Given the description of an element on the screen output the (x, y) to click on. 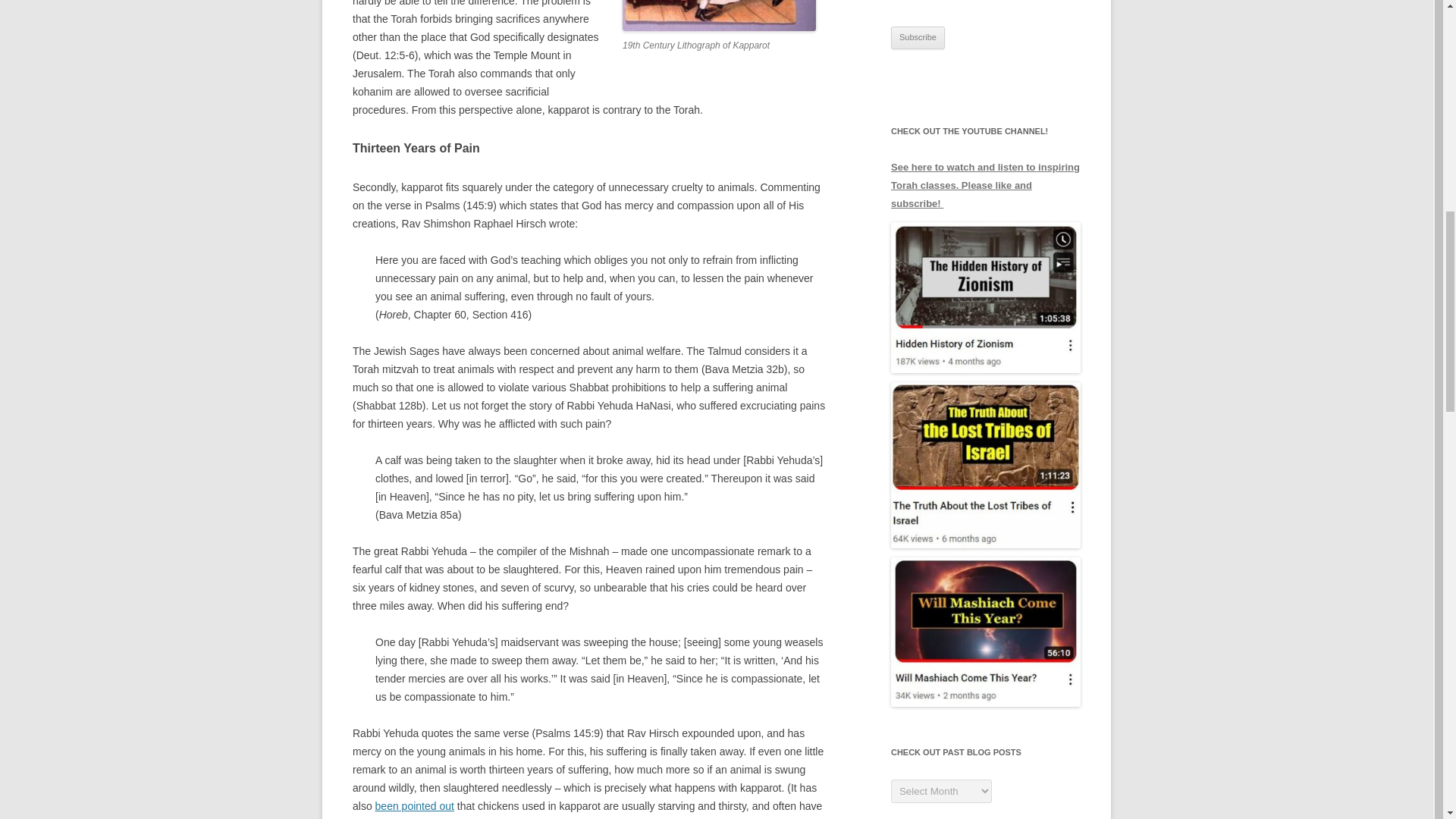
Subscribe (917, 37)
been pointed out (414, 806)
